Given the description of an element on the screen output the (x, y) to click on. 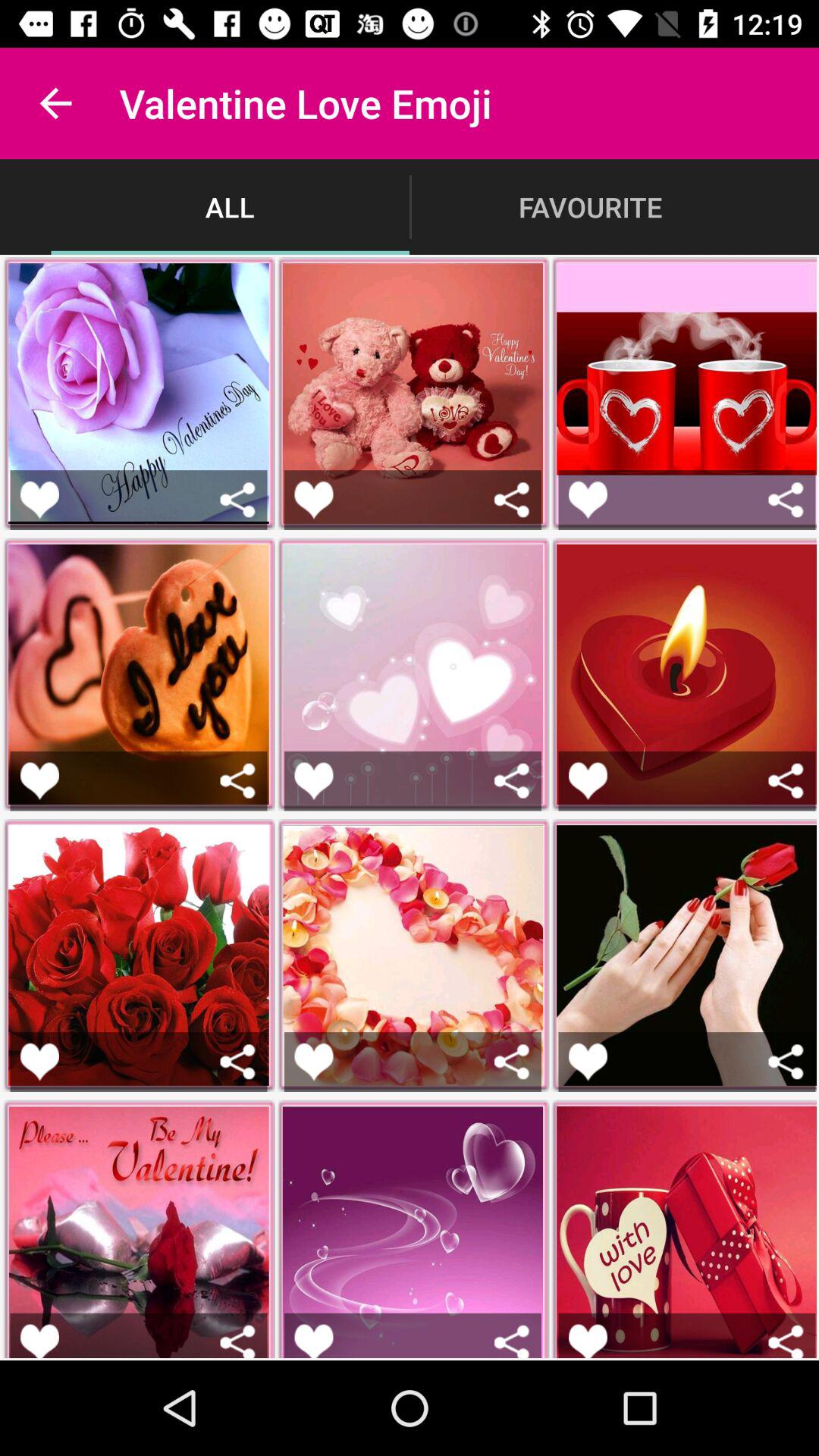
share (785, 1340)
